Given the description of an element on the screen output the (x, y) to click on. 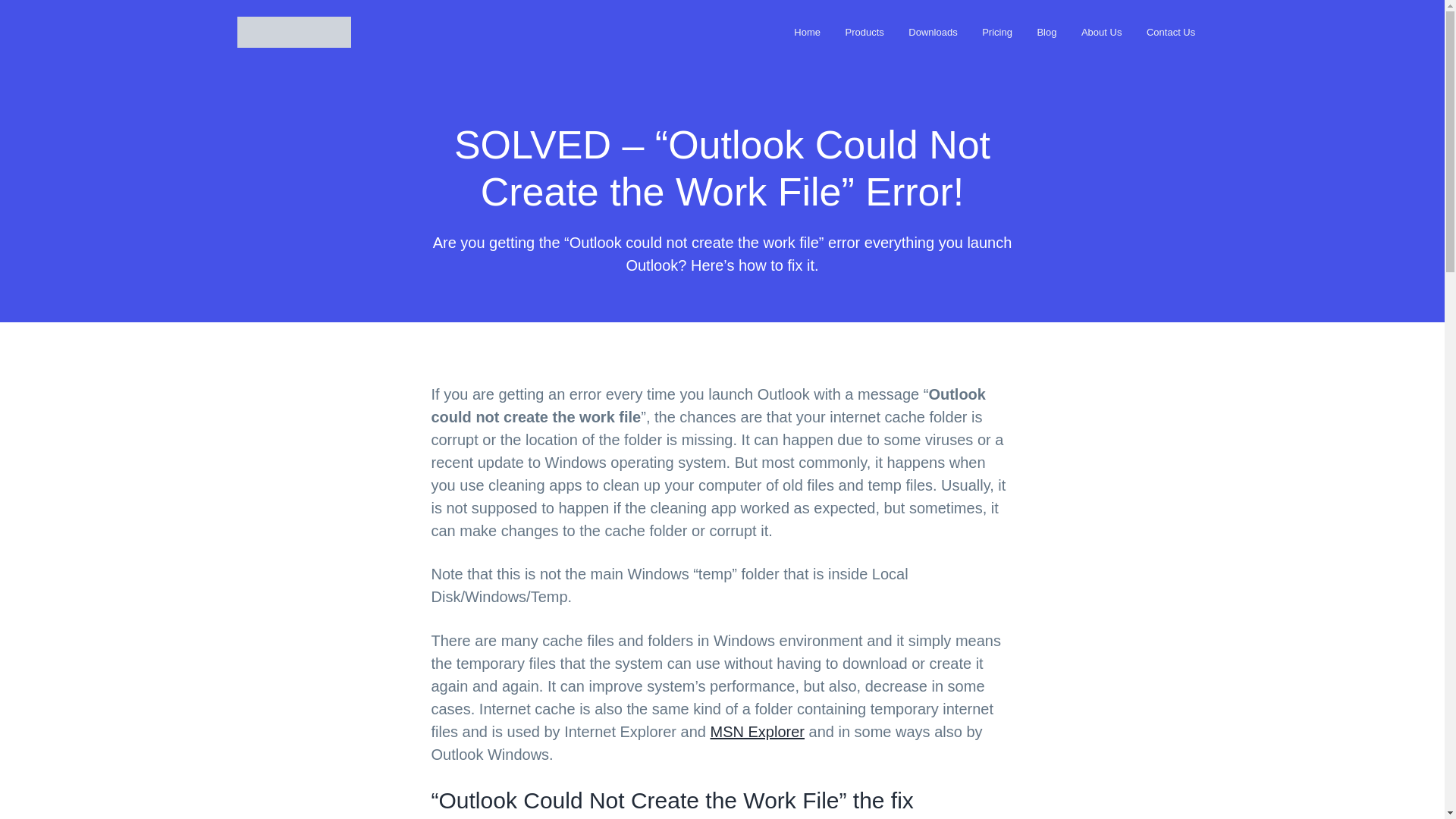
Downloads (932, 31)
Products (864, 31)
Pricing (997, 31)
Blog (1046, 31)
About Us (1101, 31)
MSN Explorer (756, 731)
Home (806, 31)
Contact Us (1171, 31)
